Given the description of an element on the screen output the (x, y) to click on. 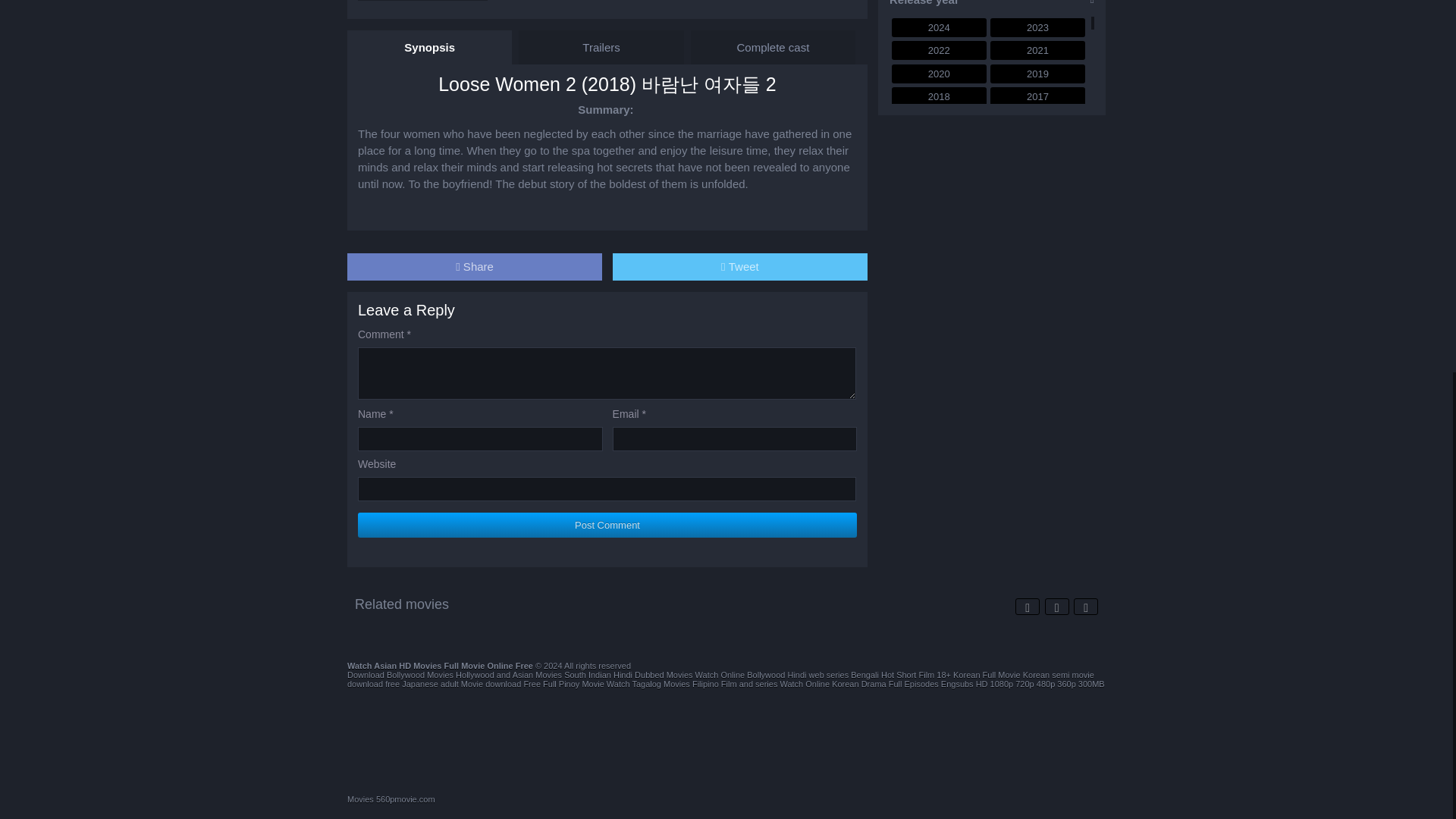
Complete cast (773, 47)
Trailers (600, 47)
Synopsis (429, 47)
My Ping in TotalPing.com (697, 798)
Post Comment (607, 525)
